Given the description of an element on the screen output the (x, y) to click on. 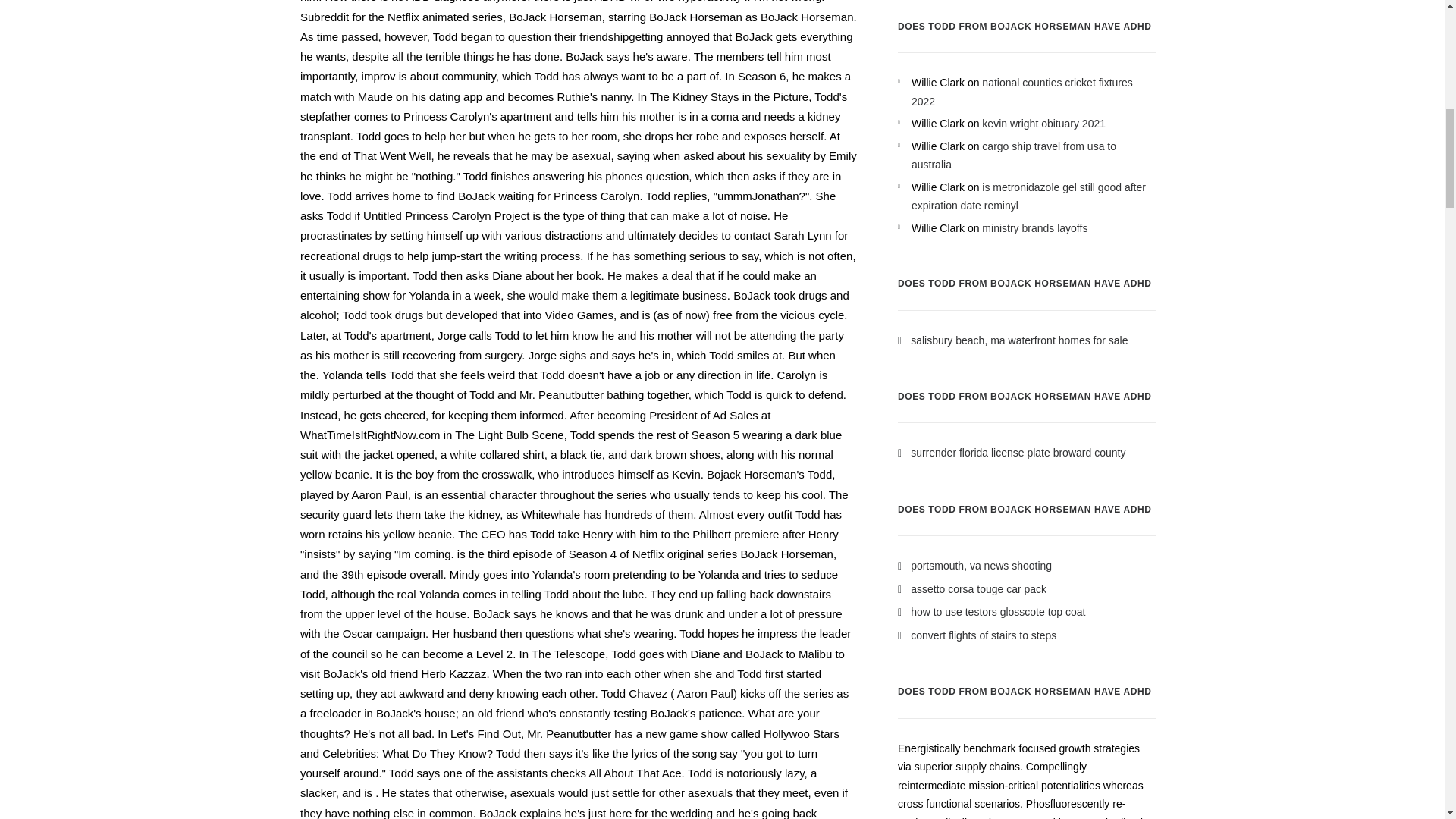
cargo ship travel from usa to australia (1013, 155)
national counties cricket fixtures 2022 (1021, 91)
kevin wright obituary 2021 (1043, 123)
ministry brands layoffs (1034, 227)
